Given the description of an element on the screen output the (x, y) to click on. 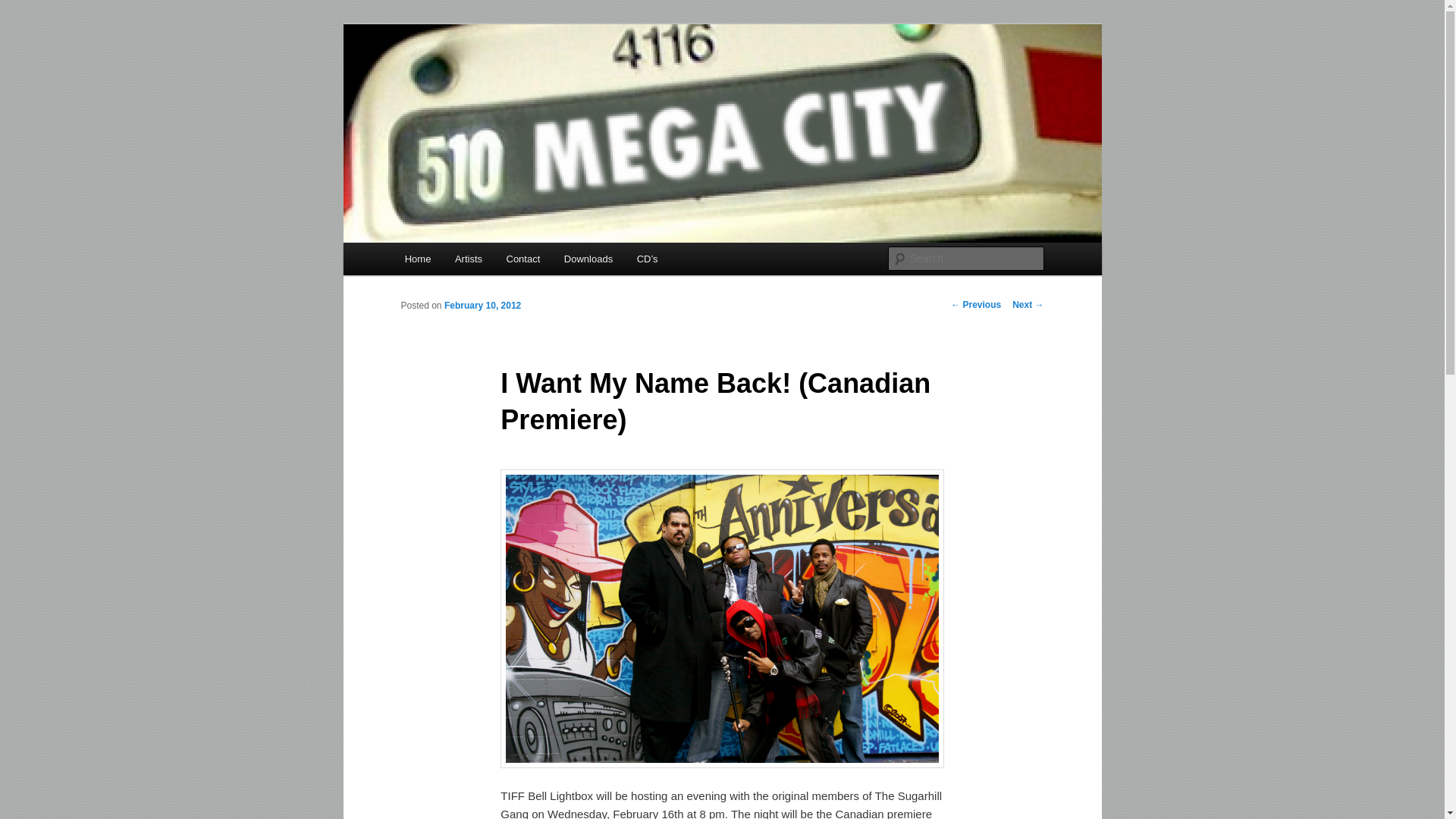
Artists (468, 258)
Home (417, 258)
RIMUS DESIGN (721, 618)
February 10, 2012 (482, 305)
Search (24, 8)
10:13 pm (482, 305)
Mega City Hip Hop (500, 78)
Contact (523, 258)
Downloads (587, 258)
